Given the description of an element on the screen output the (x, y) to click on. 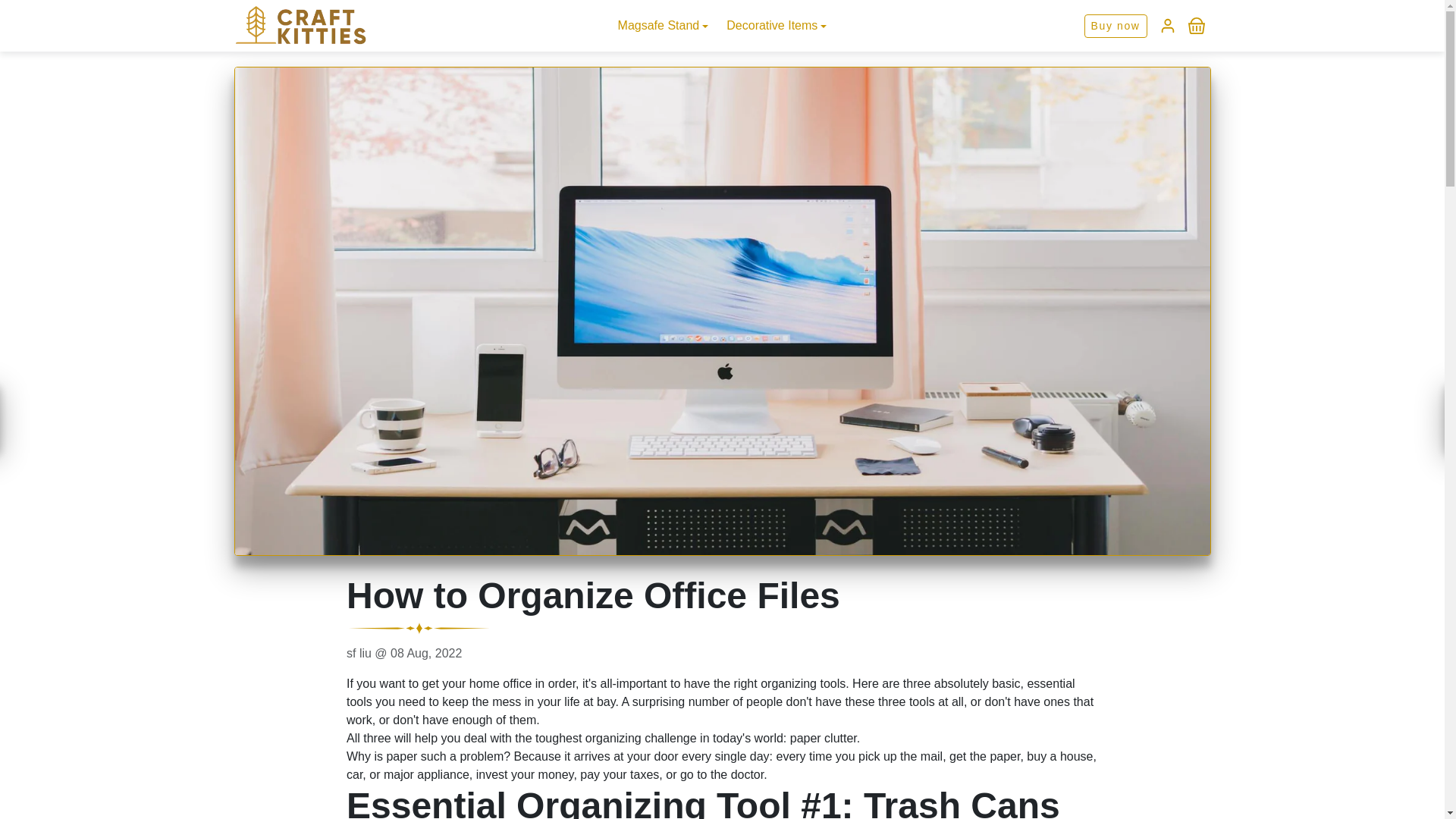
Magsafe Stand (662, 25)
Decorative Items (776, 25)
